Given the description of an element on the screen output the (x, y) to click on. 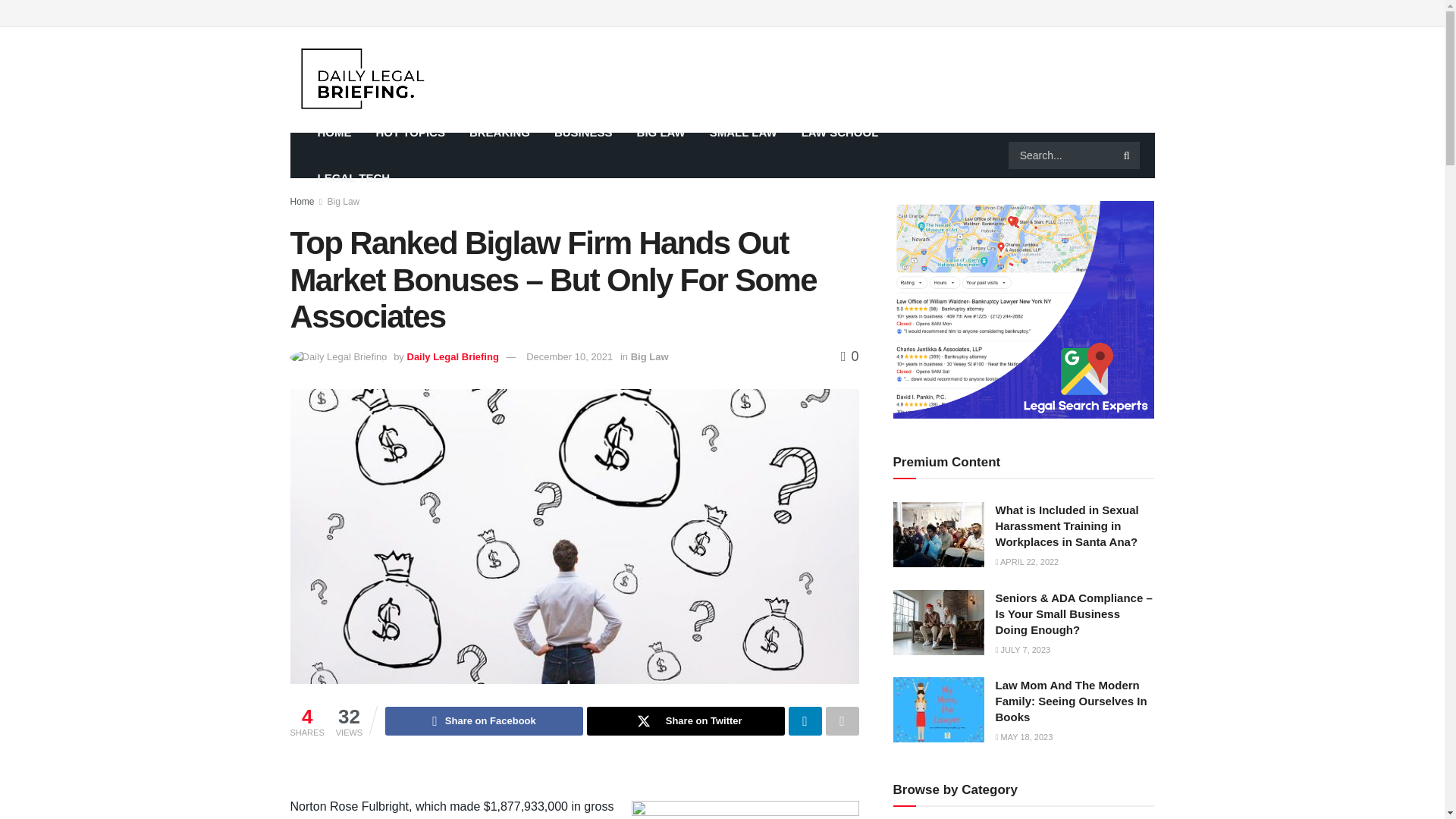
BIG LAW (660, 132)
LEGAL TECH (352, 177)
Share on Facebook (484, 720)
Big Law (343, 201)
HOME (333, 132)
Big Law (649, 356)
HOT TOPICS (410, 132)
0 (850, 355)
Share on Twitter (685, 720)
LAW SCHOOL (840, 132)
BUSINESS (582, 132)
BREAKING (499, 132)
Daily Legal Briefing (451, 356)
December 10, 2021 (568, 356)
Home (301, 201)
